Given the description of an element on the screen output the (x, y) to click on. 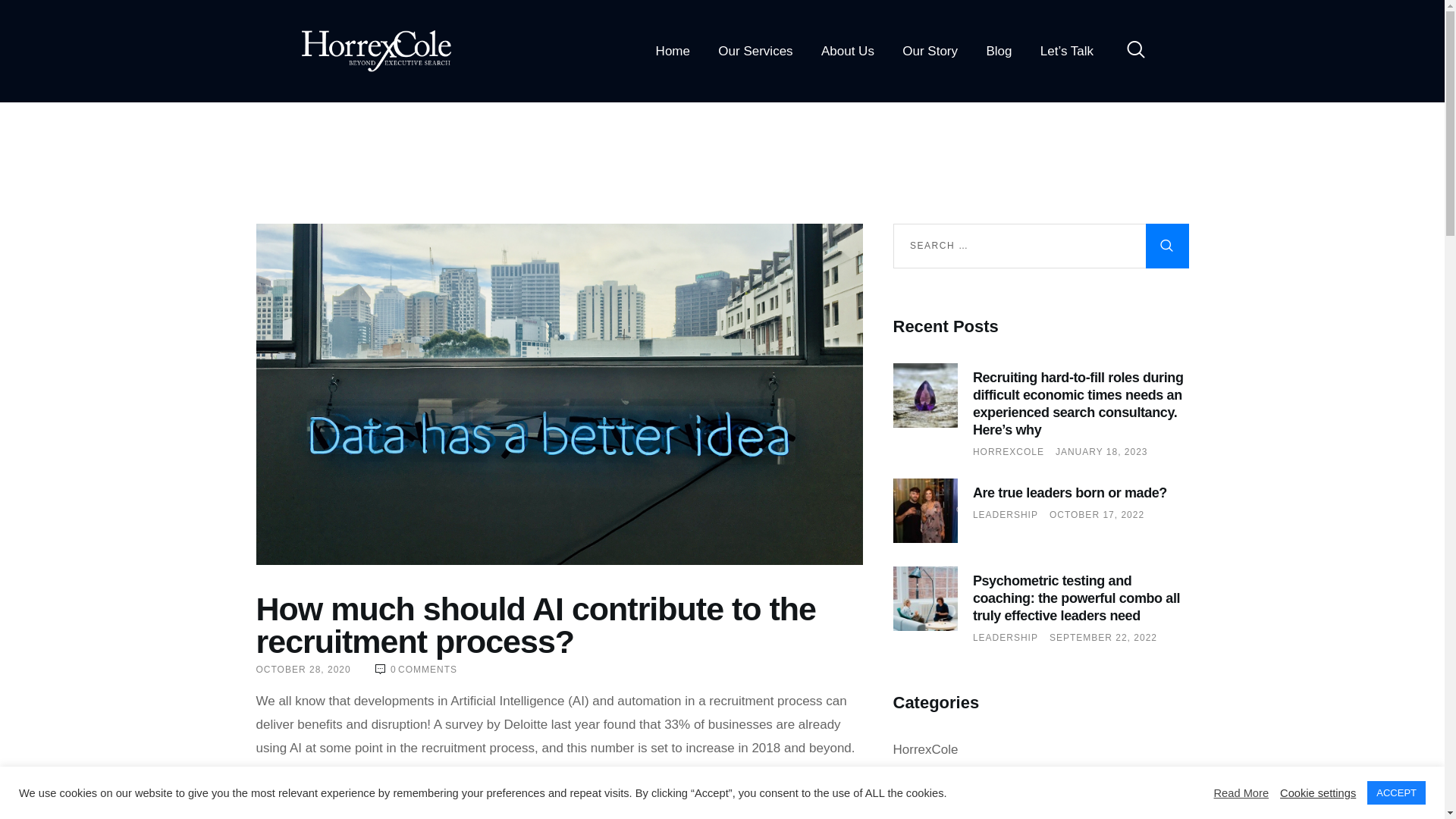
Our Services (756, 51)
About Us (847, 51)
Blog (999, 51)
Search (1166, 245)
View all posts in Leadership (1005, 514)
Home (673, 51)
View all posts in HorrexCole (1007, 451)
Our Story (930, 51)
0COMMENTS (416, 669)
Search (1166, 245)
View all posts in Leadership (1005, 637)
